Given the description of an element on the screen output the (x, y) to click on. 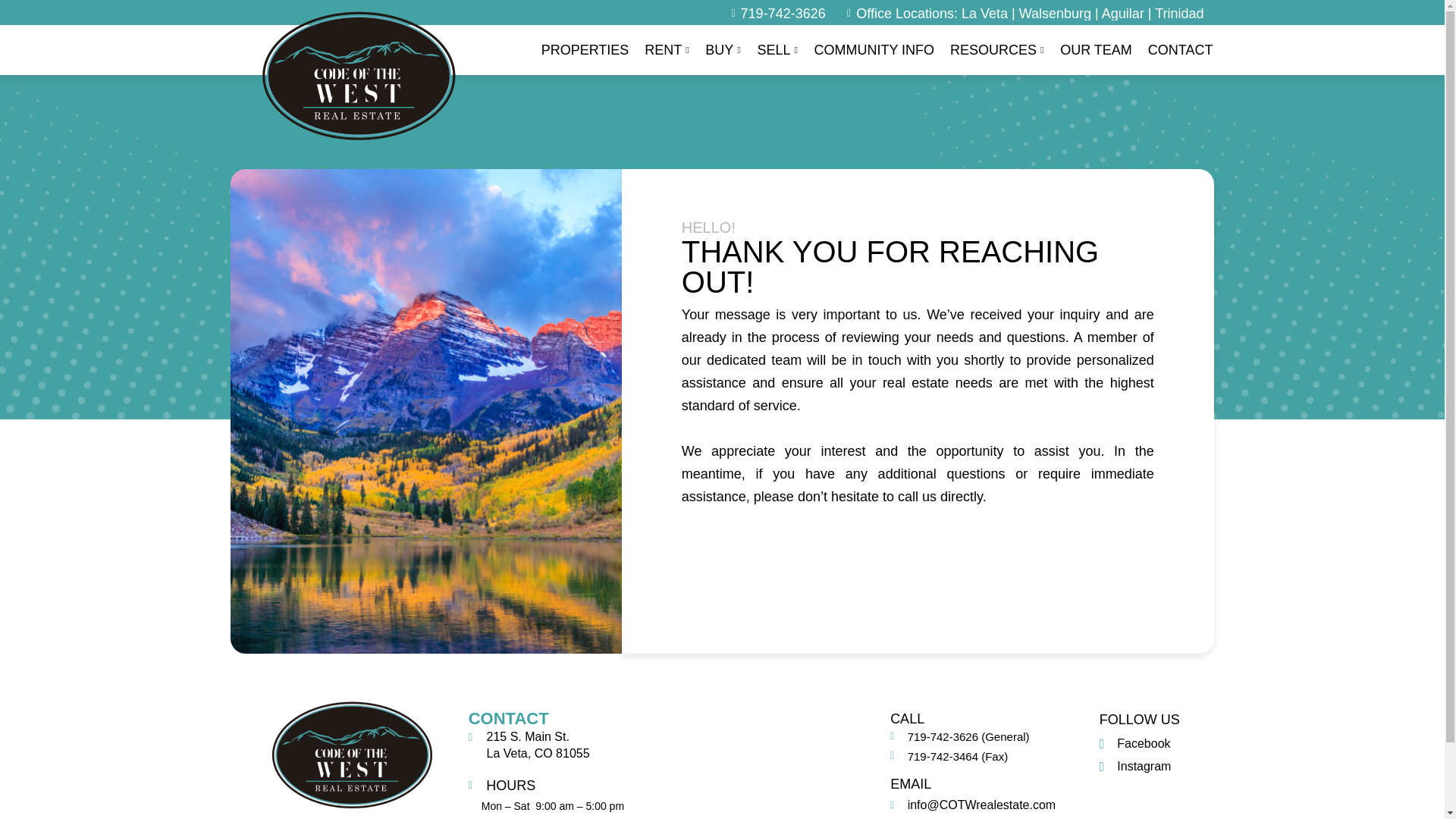
PROPERTIES (585, 49)
RENT (667, 49)
Instagram (1135, 766)
RESOURCES (996, 49)
215 S. Main St. La Veta, CO 81055 (761, 764)
Facebook (1134, 743)
SELL (777, 49)
719-742-3626 (773, 13)
CONTACT (1179, 49)
OUR TEAM (1096, 49)
COMMUNITY INFO (874, 49)
BUY (722, 49)
